Given the description of an element on the screen output the (x, y) to click on. 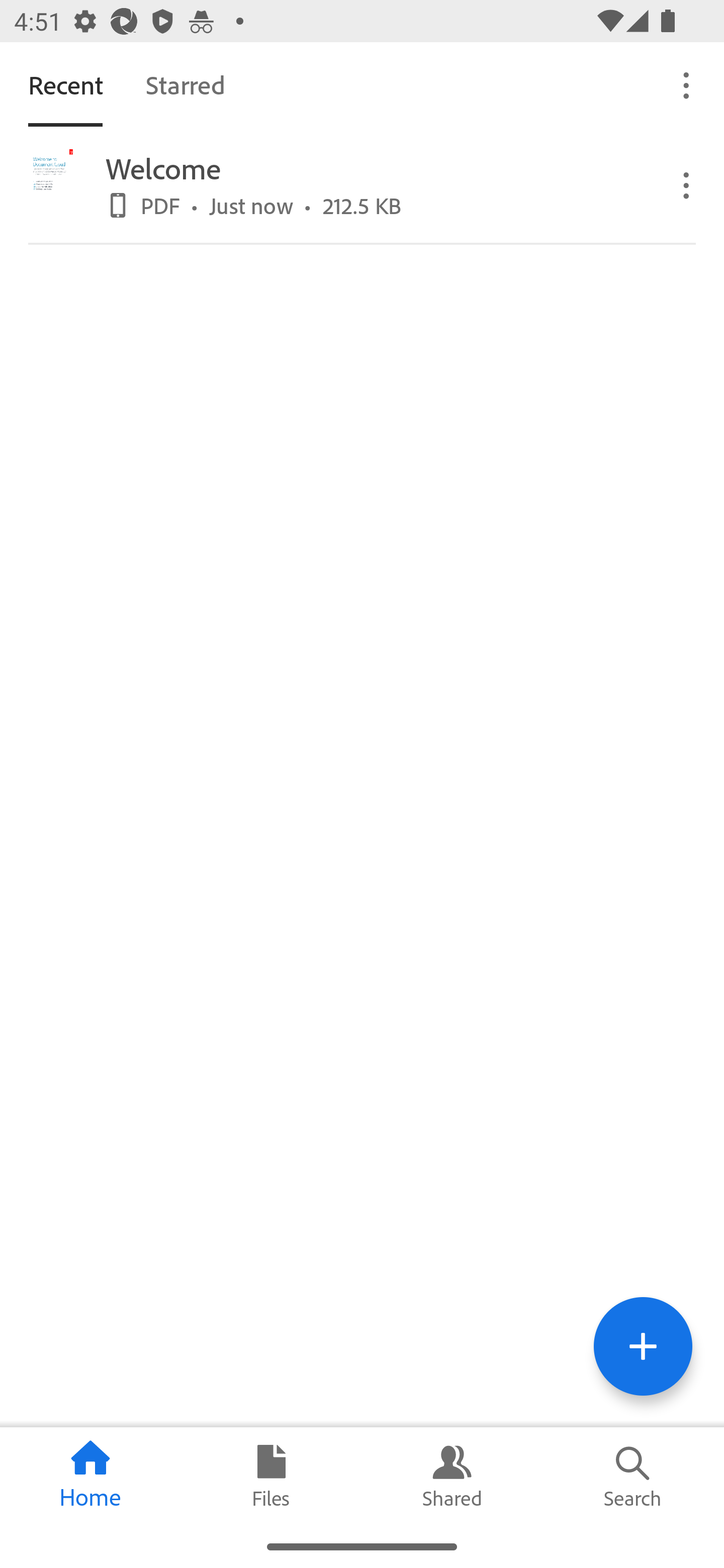
Recent (65, 84)
Starred (185, 84)
Overflow (687, 84)
Overflow (687, 184)
Tools (642, 1345)
Home (90, 1475)
Files (271, 1475)
Shared (452, 1475)
Search (633, 1475)
